Given the description of an element on the screen output the (x, y) to click on. 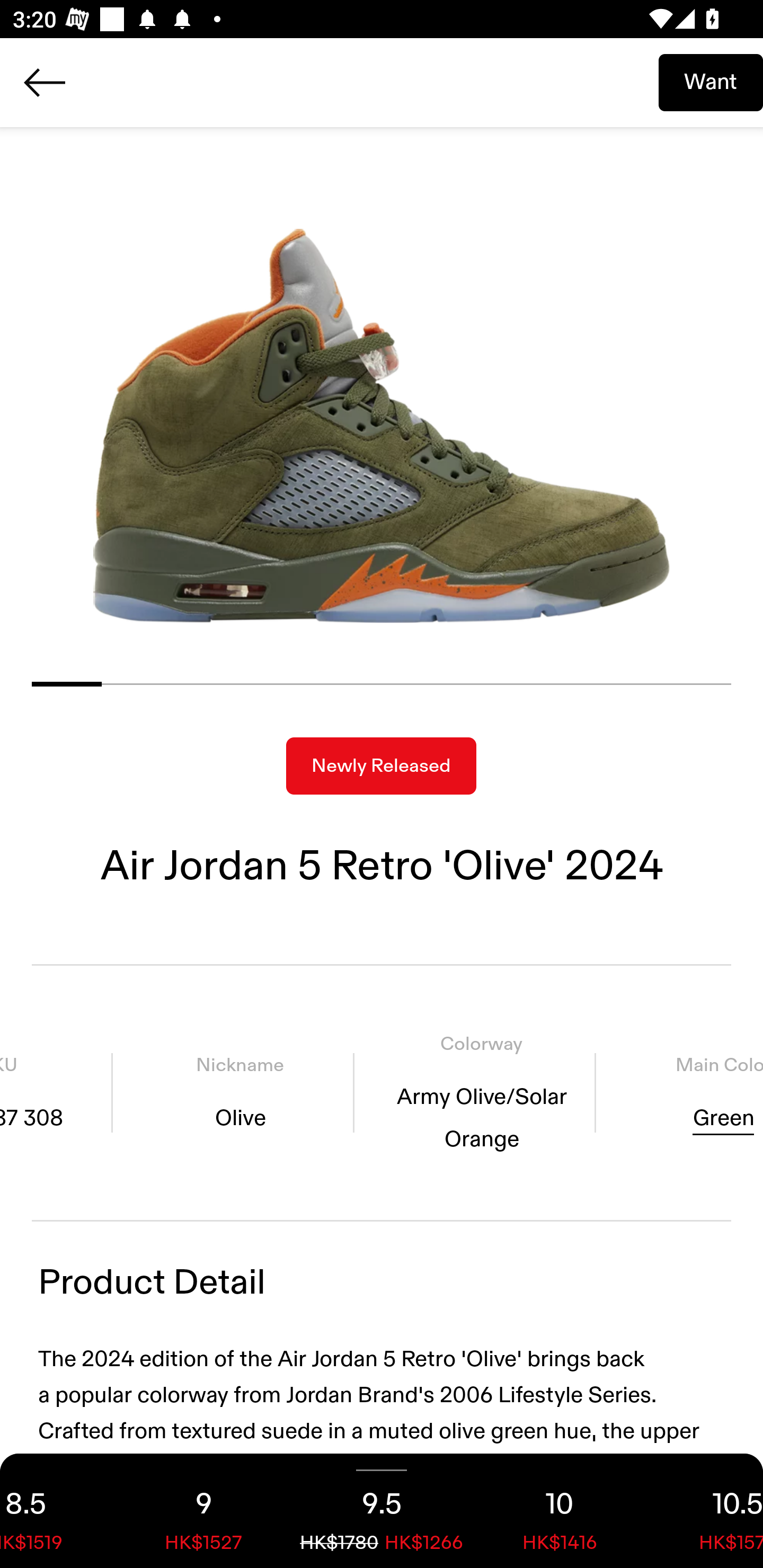
Want (710, 82)
Newly Released (381, 765)
Nickname Olive (239, 1092)
Colorway Army Olive/Solar Orange (481, 1092)
Main Color Green (685, 1092)
8.5 HK$1519 (57, 1510)
9 HK$1527 (203, 1510)
9.5 HK$1780 HK$1266 (381, 1510)
10 HK$1416 (559, 1510)
10.5 HK$1574 (705, 1510)
